Given the description of an element on the screen output the (x, y) to click on. 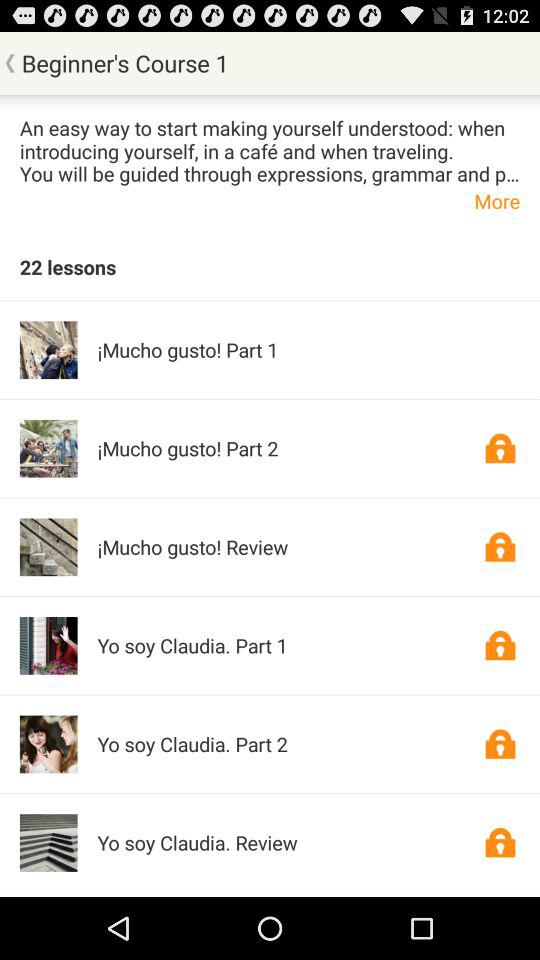
tap item above the more icon (269, 150)
